Given the description of an element on the screen output the (x, y) to click on. 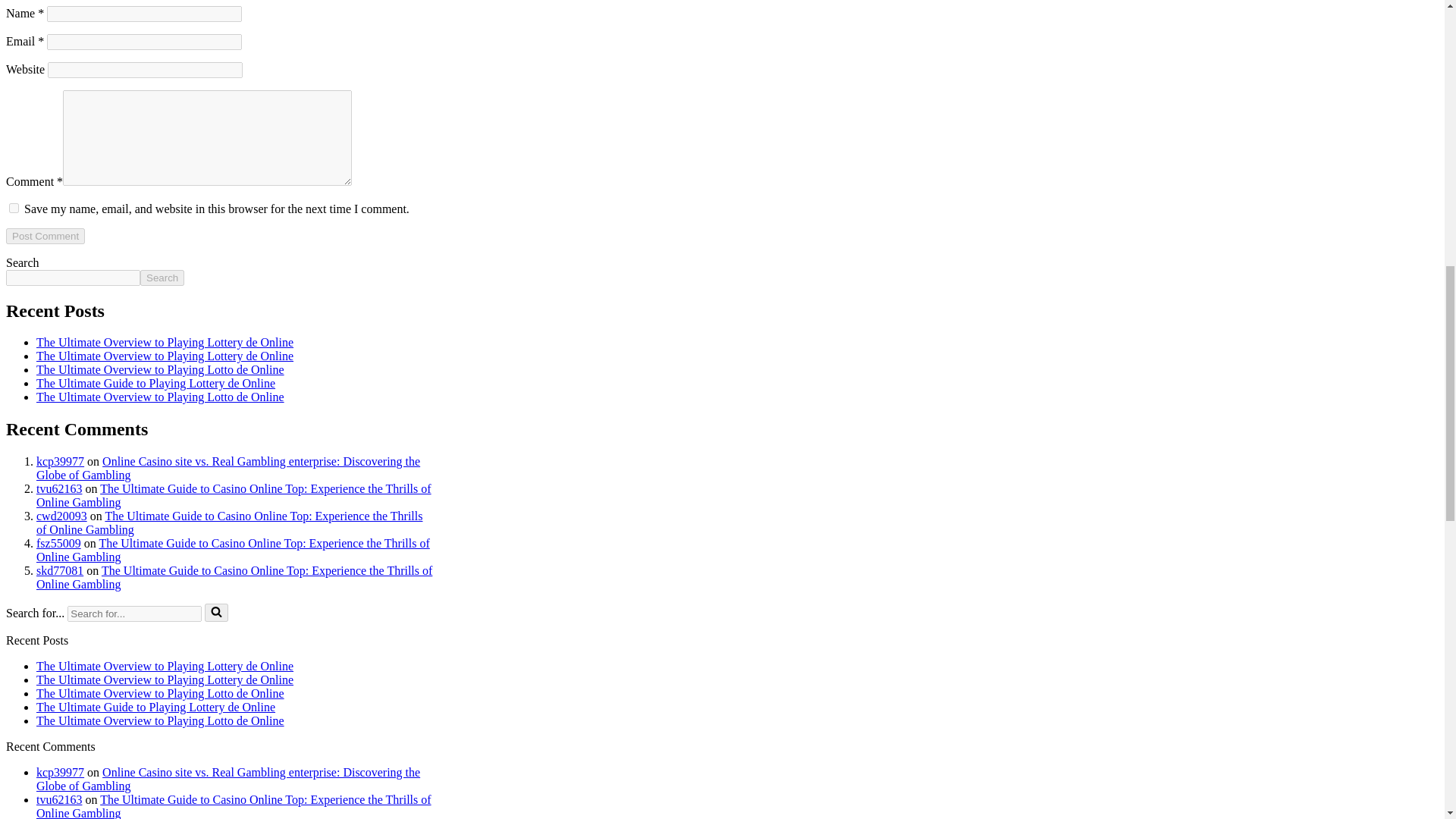
cwd20093 (61, 515)
The Ultimate Overview to Playing Lotto de Online (159, 693)
tvu62163 (58, 488)
The Ultimate Overview to Playing Lottery de Online (165, 666)
The Ultimate Guide to Playing Lottery de Online (155, 382)
skd77081 (59, 570)
The Ultimate Guide to Playing Lottery de Online (155, 707)
The Ultimate Overview to Playing Lottery de Online (165, 679)
The Ultimate Overview to Playing Lotto de Online (159, 720)
Post Comment (44, 236)
Post Comment (44, 236)
